Given the description of an element on the screen output the (x, y) to click on. 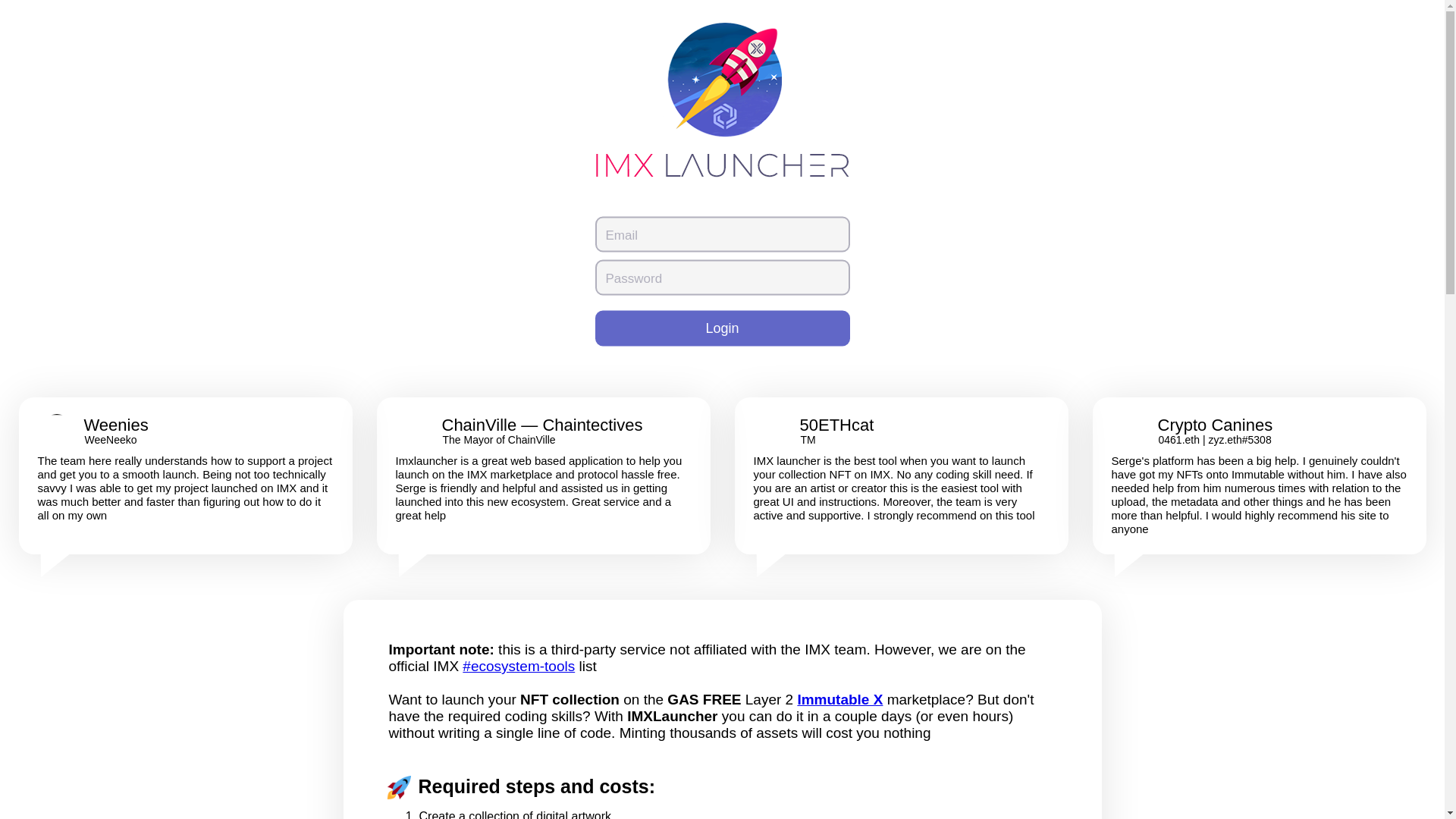
Login (721, 328)
Immutable X (839, 699)
